Given the description of an element on the screen output the (x, y) to click on. 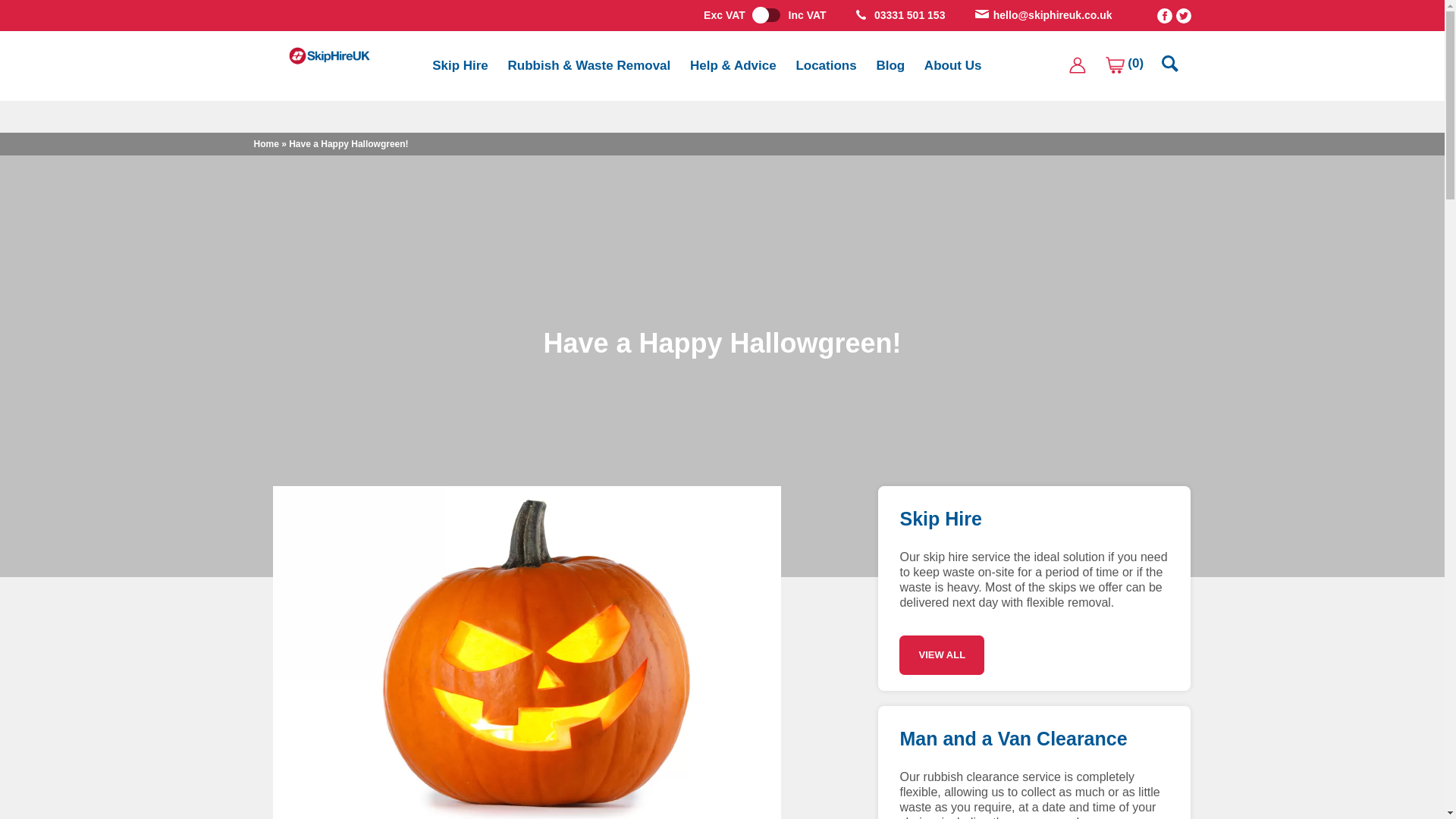
VIEW ALL (941, 654)
Home (265, 143)
Locations (825, 65)
03331 501 153 (909, 15)
About Us (952, 65)
Skip Hire (460, 65)
